Given the description of an element on the screen output the (x, y) to click on. 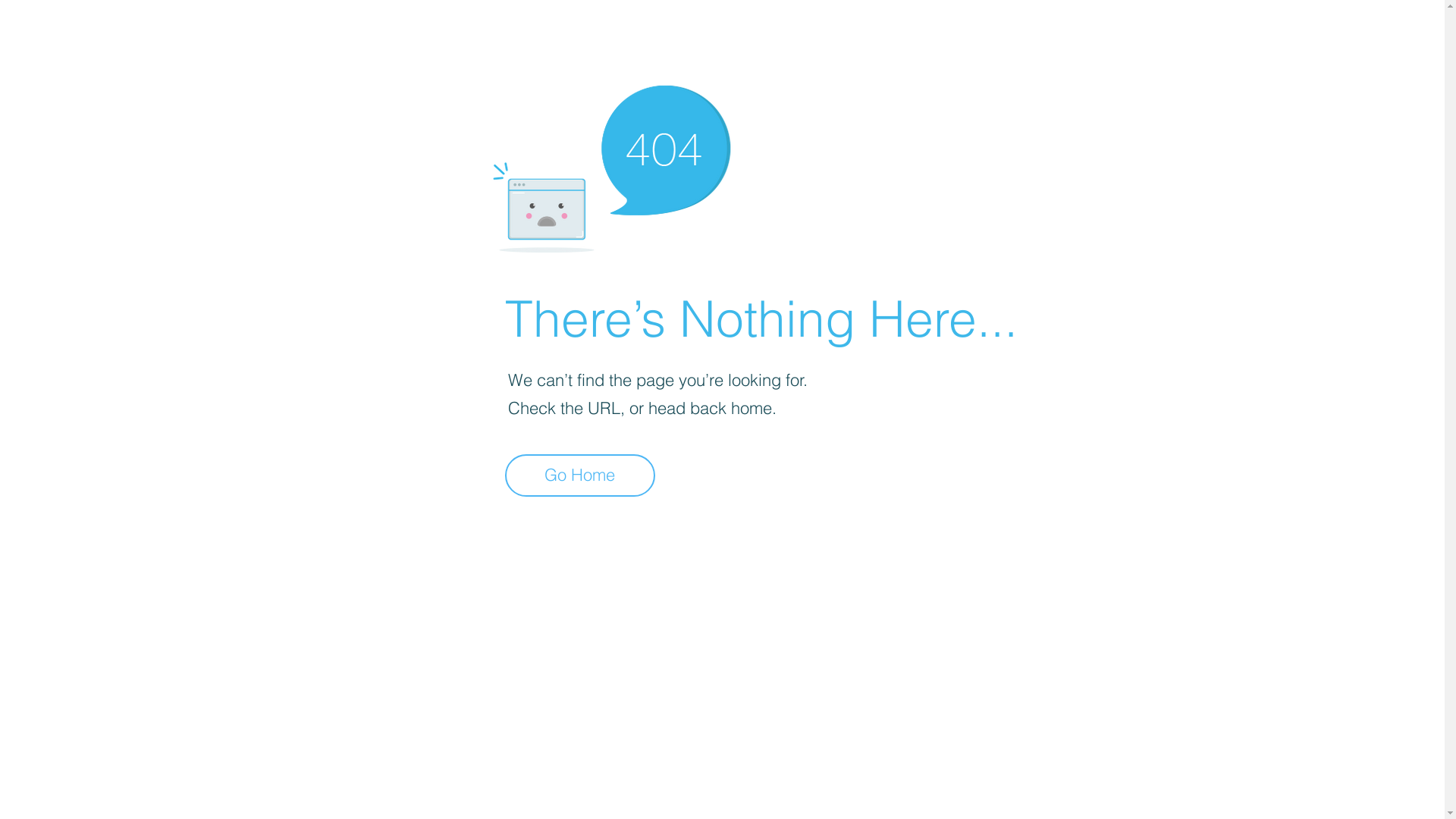
404-icon_2.png Element type: hover (610, 164)
Go Home Element type: text (580, 475)
